Given the description of an element on the screen output the (x, y) to click on. 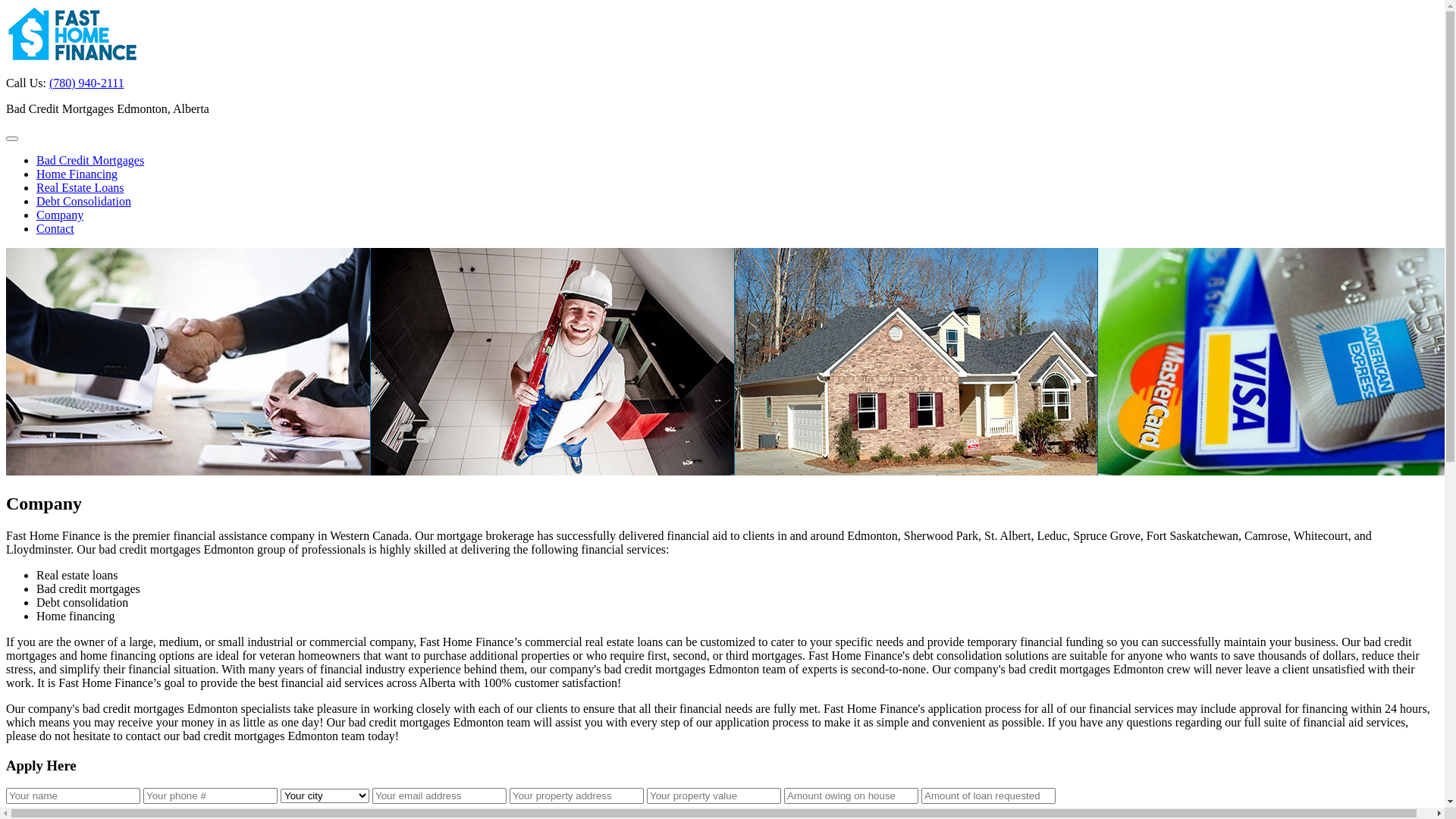
Bad Credit Mortgages Element type: text (90, 159)
Company Element type: text (59, 214)
(780) 940-2111 Element type: text (86, 82)
Contact Element type: text (55, 228)
Real Estate Loans Element type: text (80, 187)
Debt Consolidation Element type: text (83, 200)
Home Financing Element type: text (76, 173)
